Given the description of an element on the screen output the (x, y) to click on. 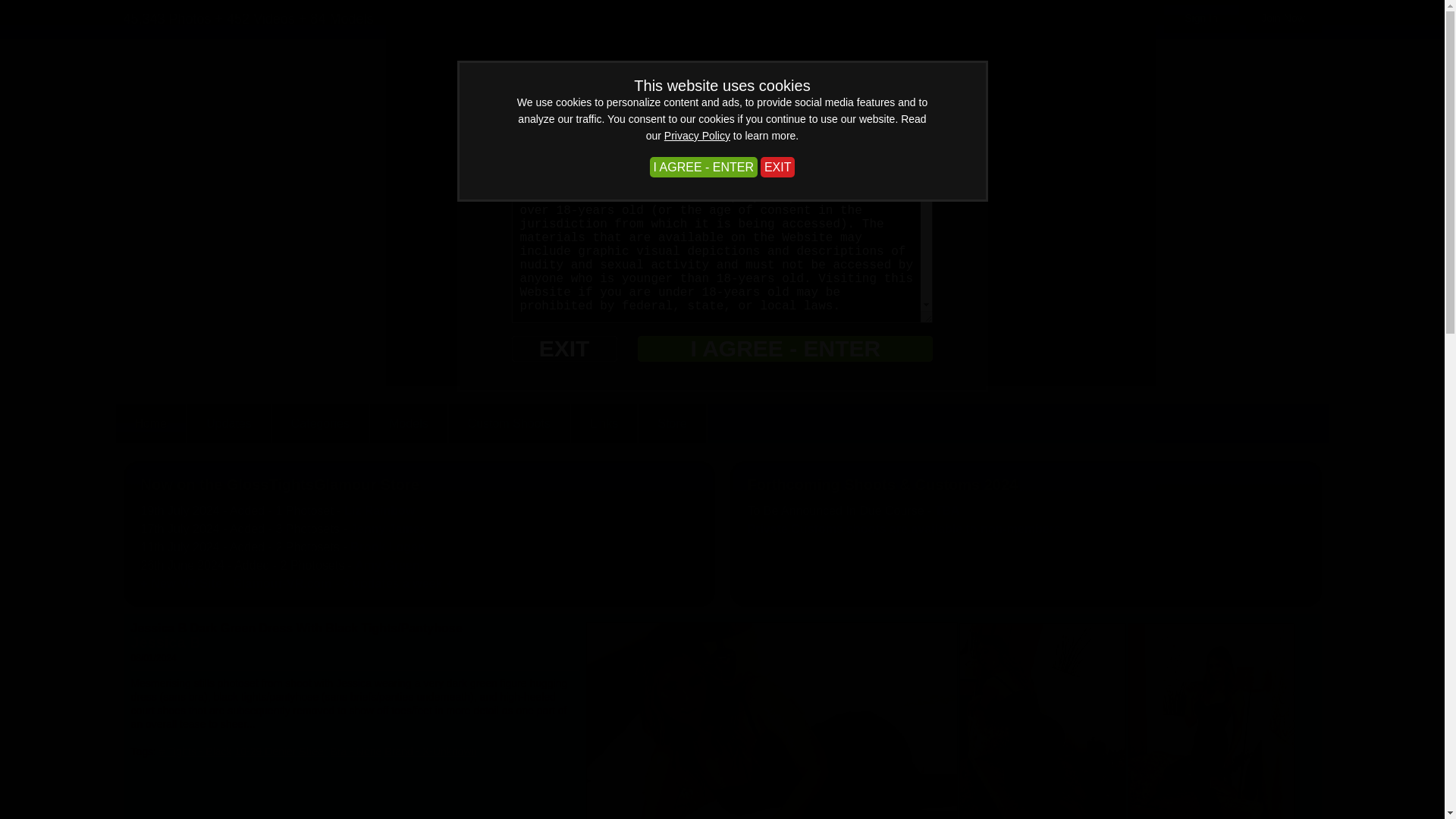
Brand - X-Unknown (430, 751)
Private Customs shoots are available to non-members (904, 528)
Store (671, 423)
Bra - None (355, 751)
Links (603, 423)
10-29 Denier Sheer (280, 751)
Jenny James (388, 528)
Models (408, 423)
Home (150, 423)
TBA (946, 510)
Jessica B (165, 641)
Brook Logan (387, 546)
Updates (228, 423)
Amy Green (387, 564)
Custom Shoots (509, 423)
